Given the description of an element on the screen output the (x, y) to click on. 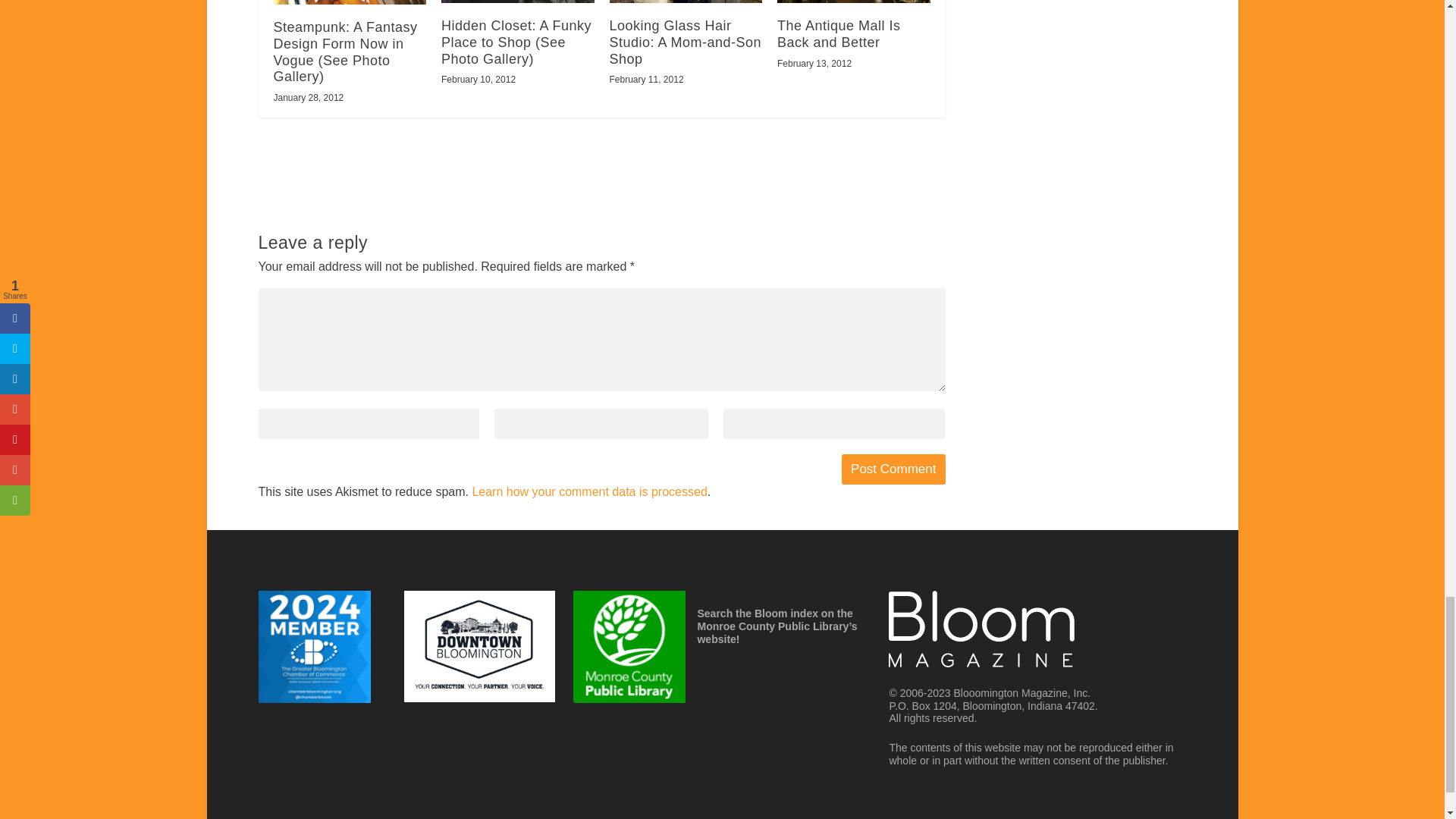
Post Comment (892, 469)
